Given the description of an element on the screen output the (x, y) to click on. 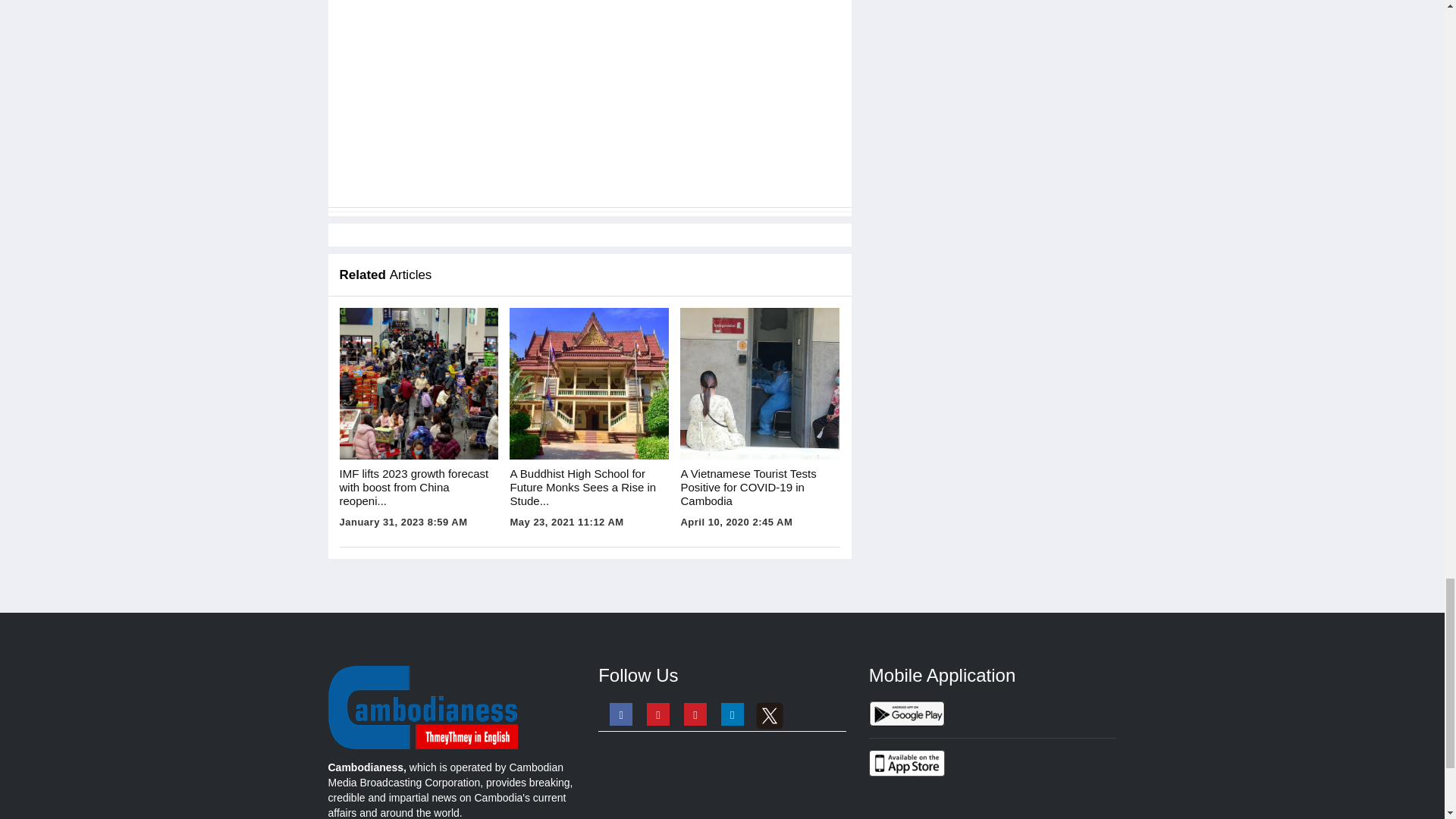
A Vietnamese Tourist Tests Positive for COVID-19 in Cambodia (759, 383)
